Given the description of an element on the screen output the (x, y) to click on. 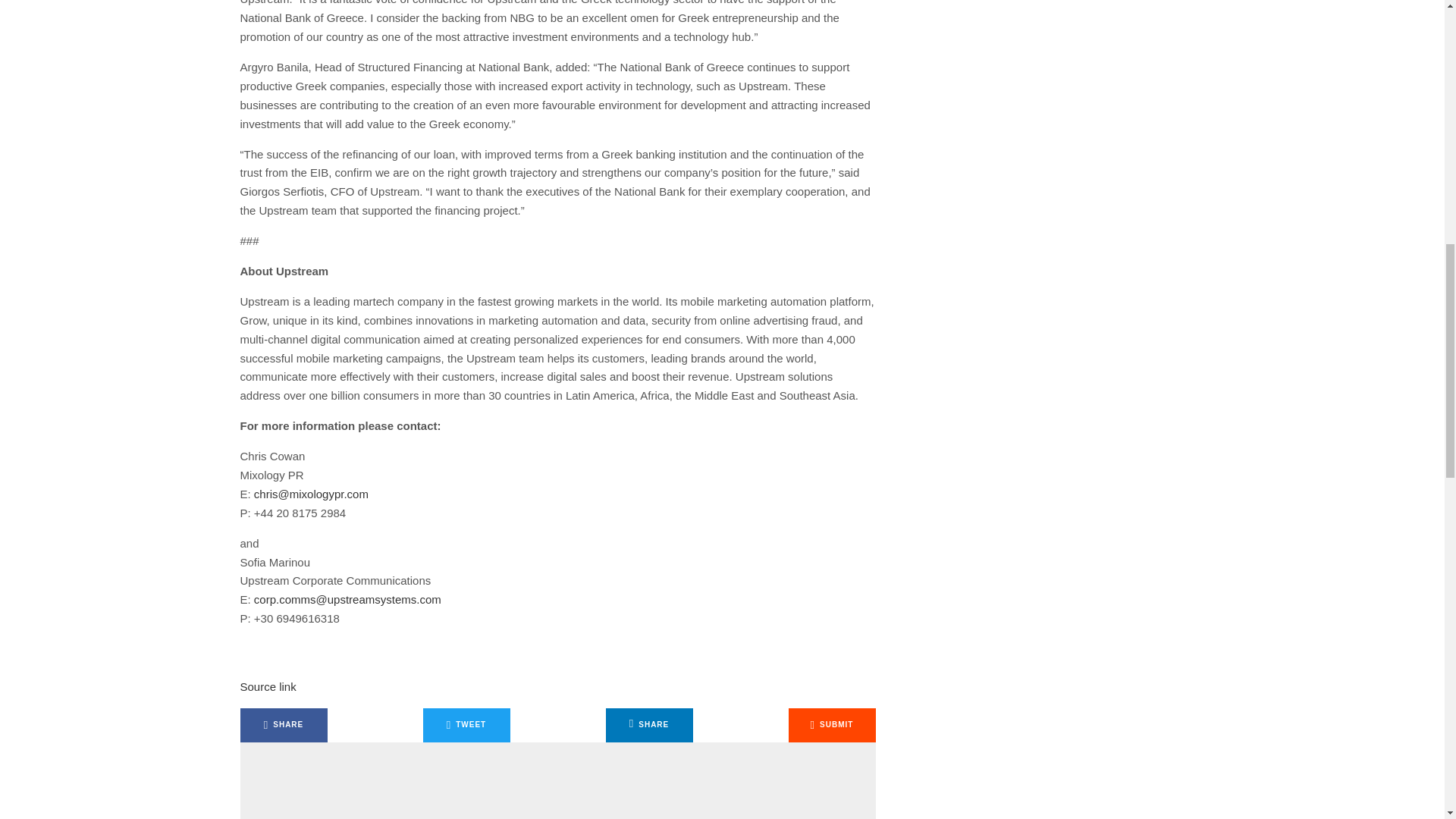
Source link (267, 686)
TWEET (467, 725)
SUBMIT (832, 725)
SHARE (283, 725)
SHARE (649, 725)
